Given the description of an element on the screen output the (x, y) to click on. 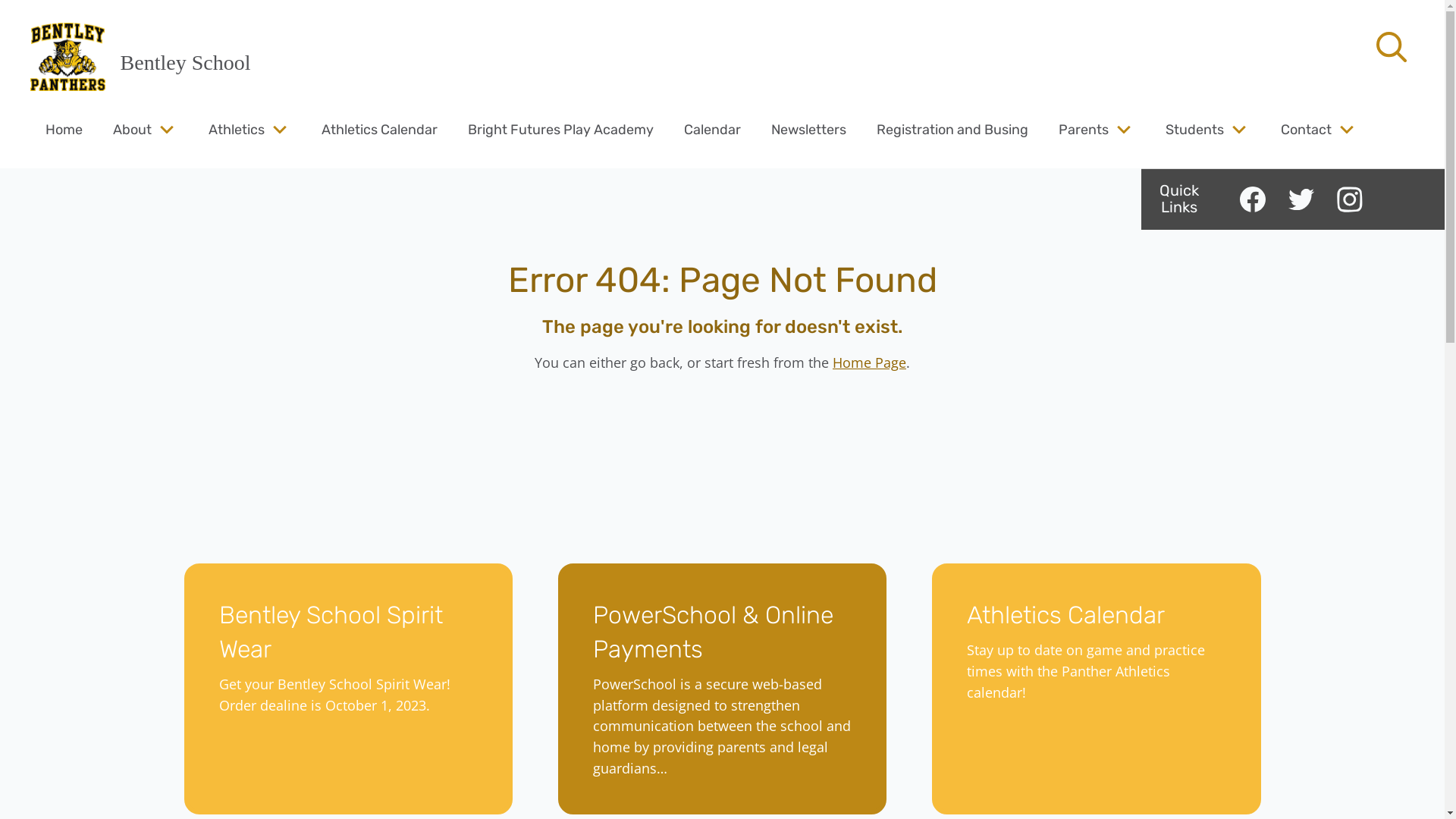
Search Element type: text (45, 19)
Calendar Element type: text (712, 129)
Athletics Calendar Element type: text (379, 129)
Students Element type: text (1194, 129)
Home Page Element type: text (869, 362)
Parents Element type: text (1083, 129)
home Element type: hover (67, 56)
Bentley School's Twitter Element type: hover (1301, 199)
About Element type: text (131, 129)
Bentley School's Instagram Element type: hover (1349, 199)
Contact Element type: text (1305, 129)
Newsletters Element type: text (808, 129)
Athletics Element type: text (236, 129)
Registration and Busing Element type: text (952, 129)
Bentley School's Facebook Element type: hover (1252, 199)
Home Element type: text (63, 129)
Bright Futures Play Academy Element type: text (560, 129)
Quick Links Element type: text (1179, 198)
